Given the description of an element on the screen output the (x, y) to click on. 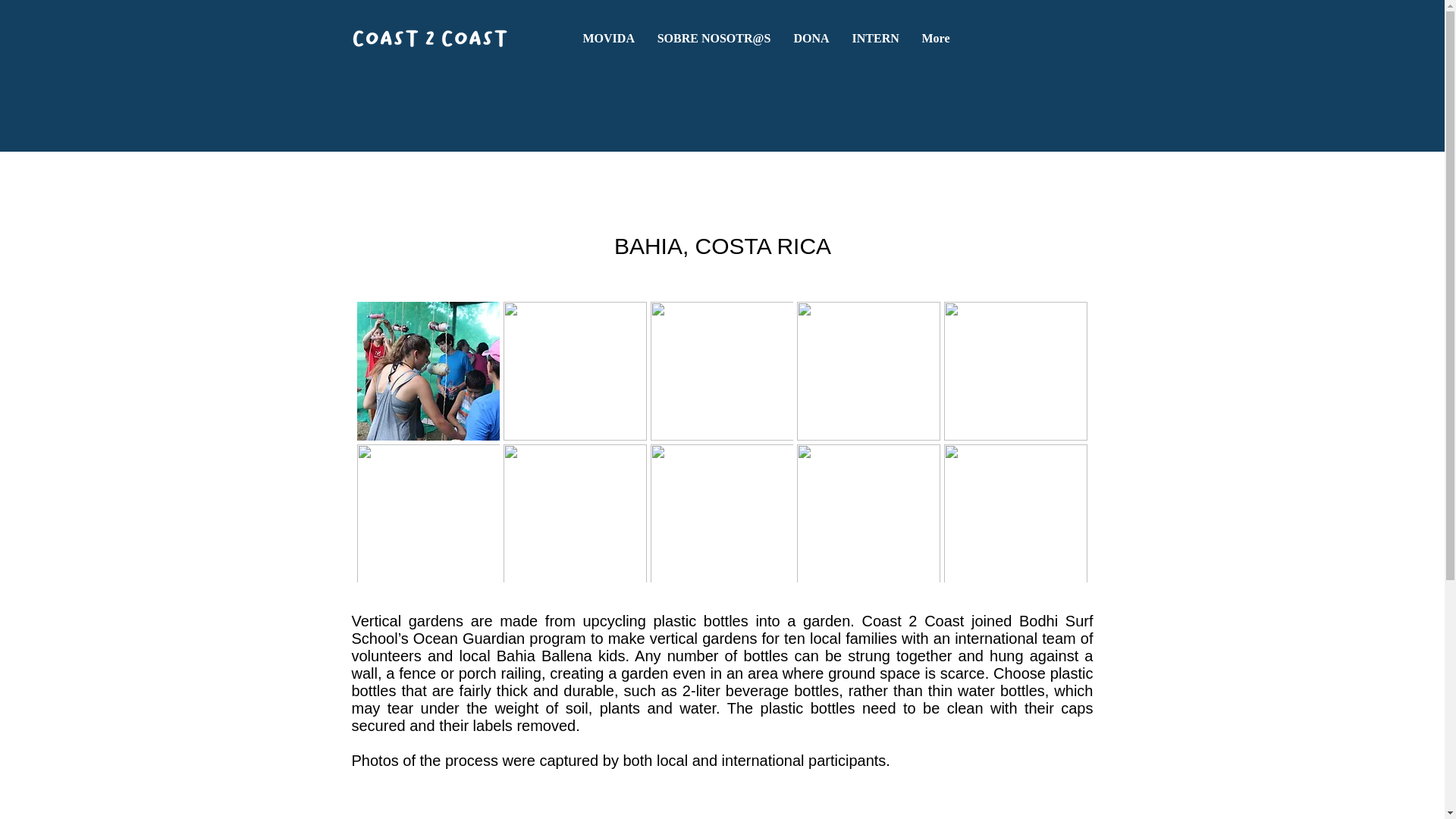
DONA (812, 38)
INTERN (875, 38)
